Given the description of an element on the screen output the (x, y) to click on. 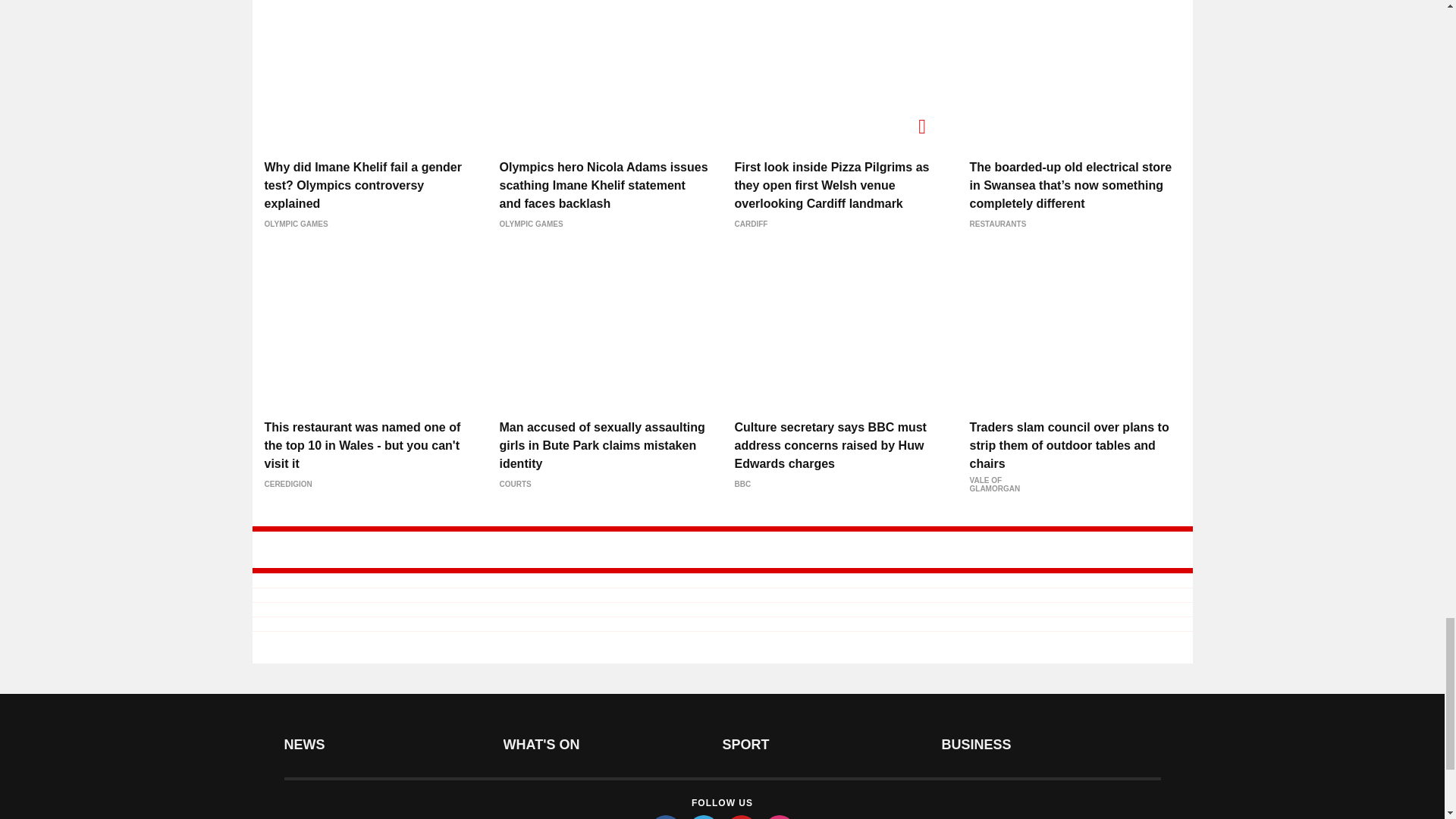
instagram (779, 816)
facebook (665, 816)
pinterest (741, 816)
twitter (703, 816)
